Given the description of an element on the screen output the (x, y) to click on. 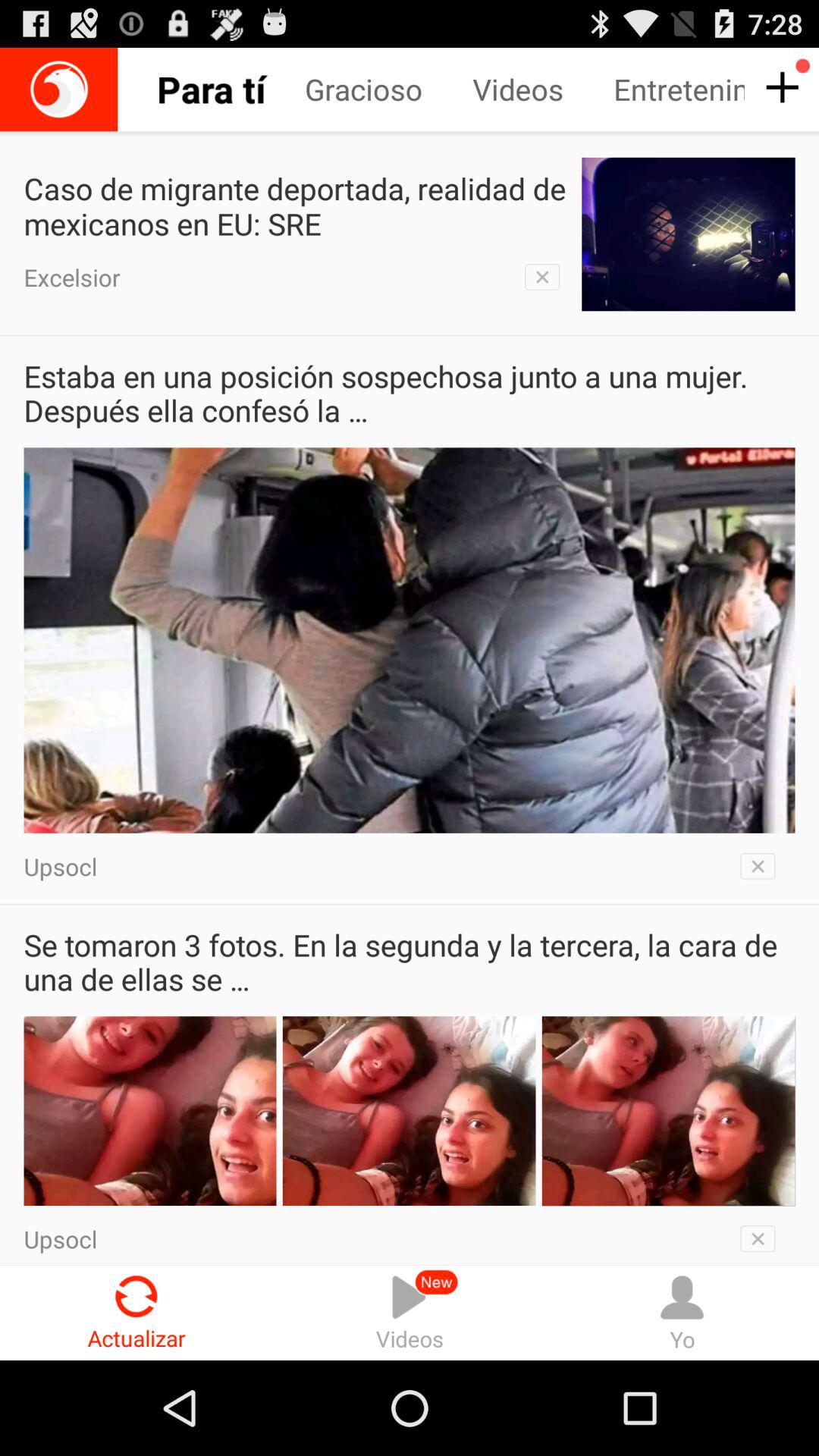
close button (762, 1234)
